Given the description of an element on the screen output the (x, y) to click on. 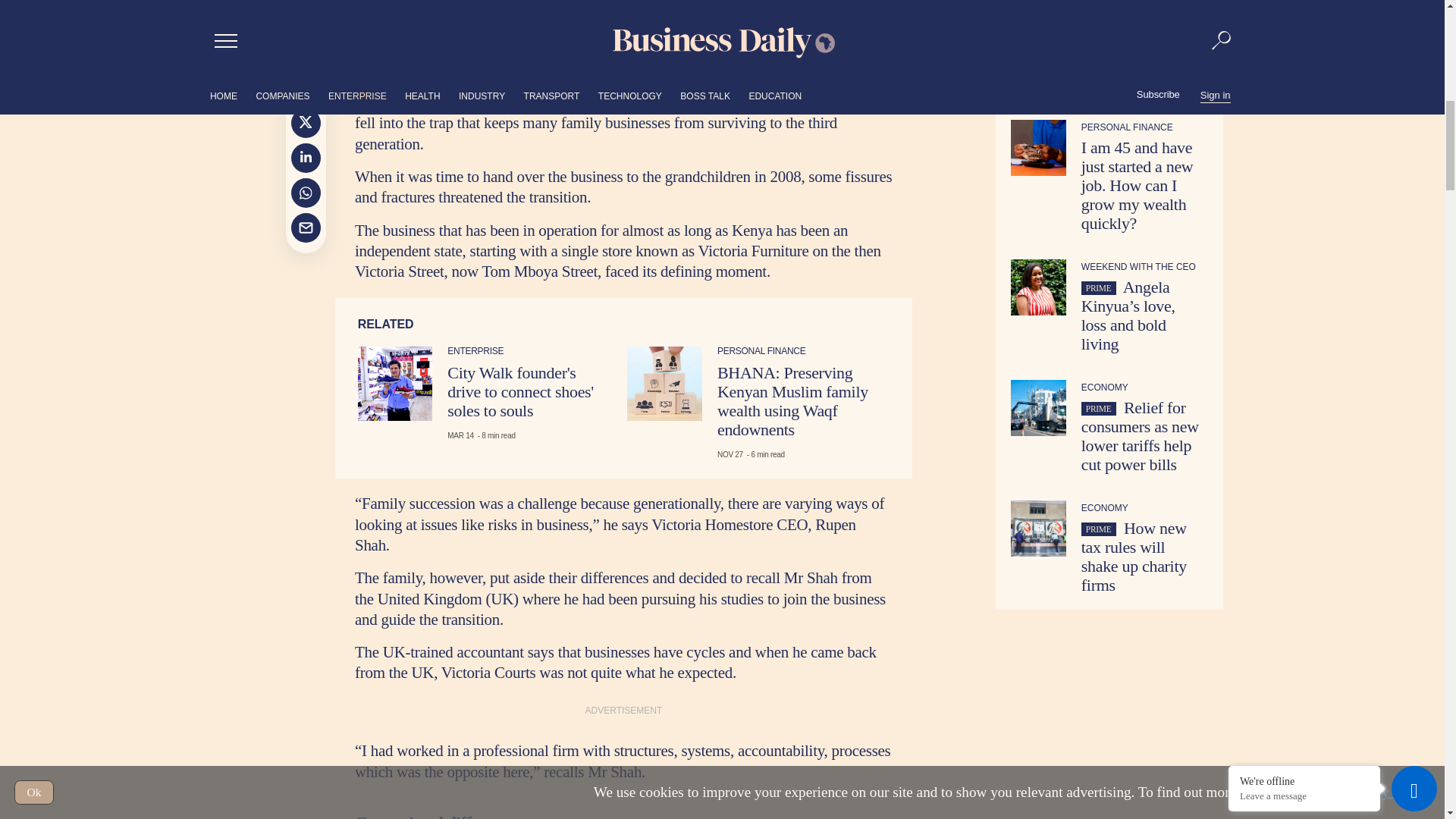
PRIME (1098, 237)
PRIME (1098, 117)
PRIME (1098, 2)
